Given the description of an element on the screen output the (x, y) to click on. 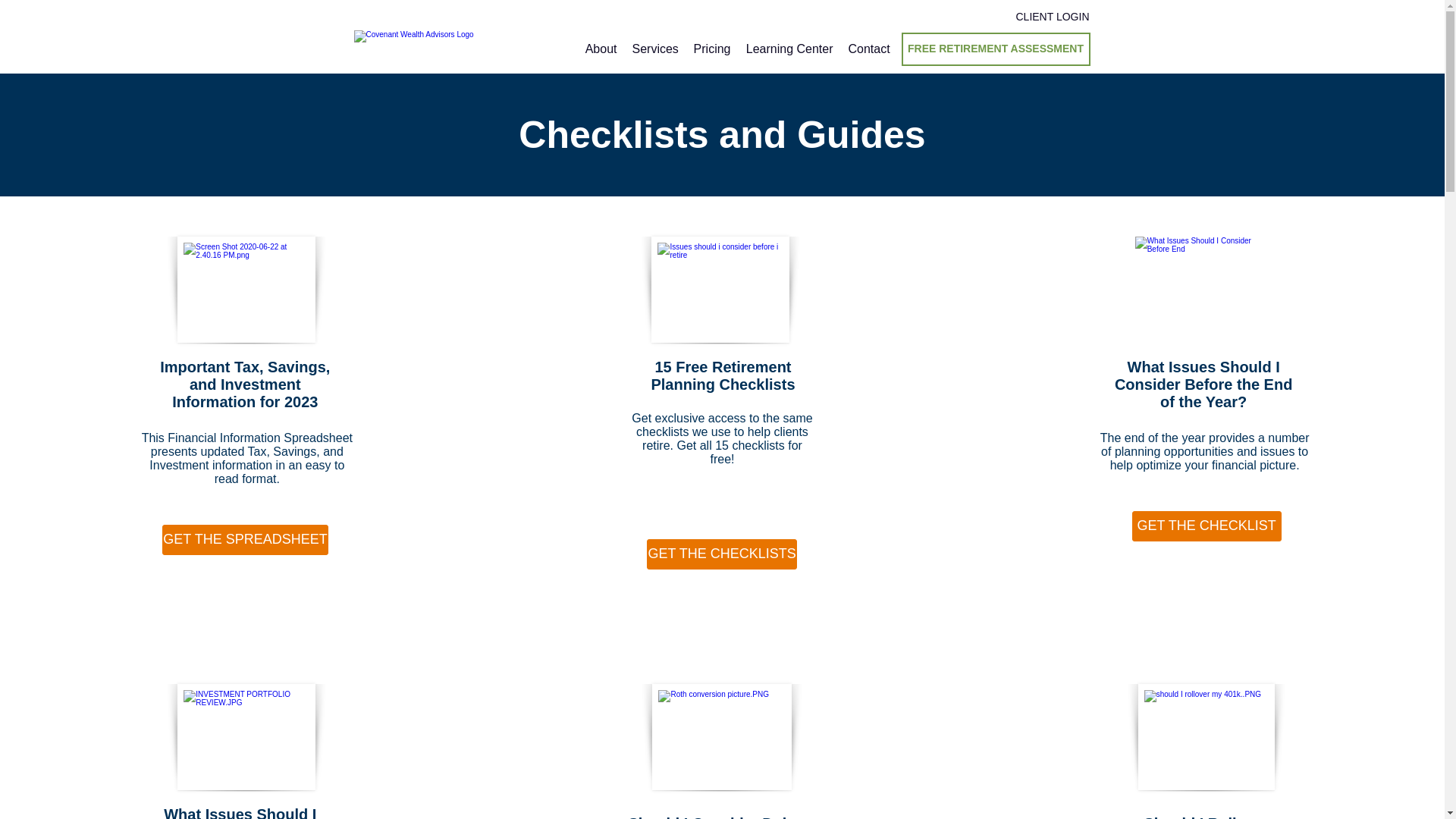
CLIENT LOGIN (1052, 16)
Services (654, 48)
Contact (868, 48)
GET THE CHECKLISTS (721, 553)
About (601, 48)
FREE RETIREMENT ASSESSMENT (995, 49)
Pricing (711, 48)
GET THE CHECKLIST (1206, 526)
GET THE SPREADSHEET (244, 539)
